Given the description of an element on the screen output the (x, y) to click on. 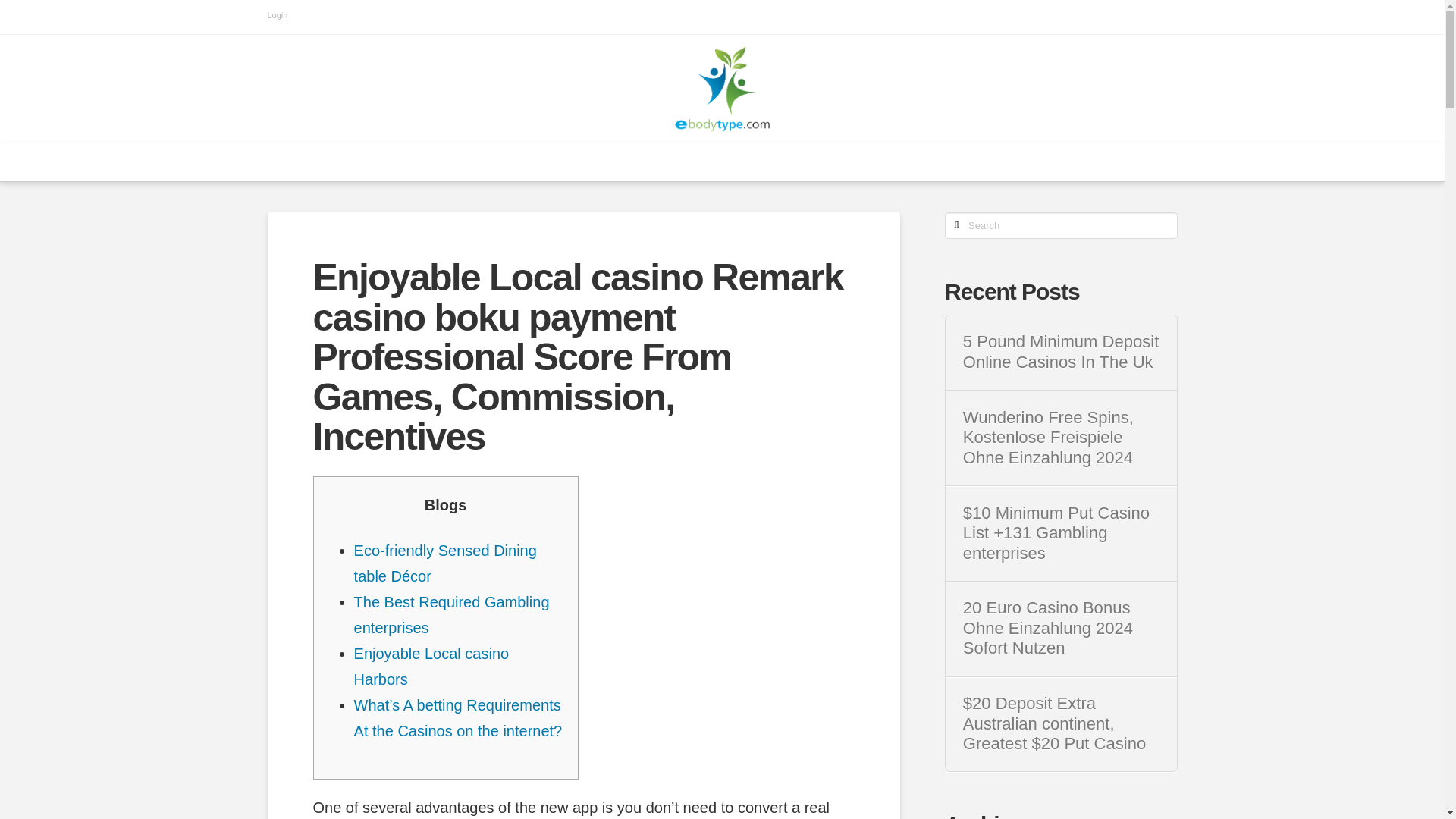
ALL ACCESS PRICING (762, 161)
ABOUT EBODYTYPE (608, 161)
Enjoyable Local casino Harbors (431, 666)
5 Pound Minimum Deposit Online Casinos In The Uk (1060, 352)
The Best Required Gambling enterprises (451, 614)
SHOP (1024, 161)
20 Euro Casino Bonus Ohne Einzahlung 2024 Sofort Nutzen (1060, 628)
EBODYTYPE TESTS (461, 161)
TEST DEFINITIONS (917, 161)
Login (276, 15)
